Given the description of an element on the screen output the (x, y) to click on. 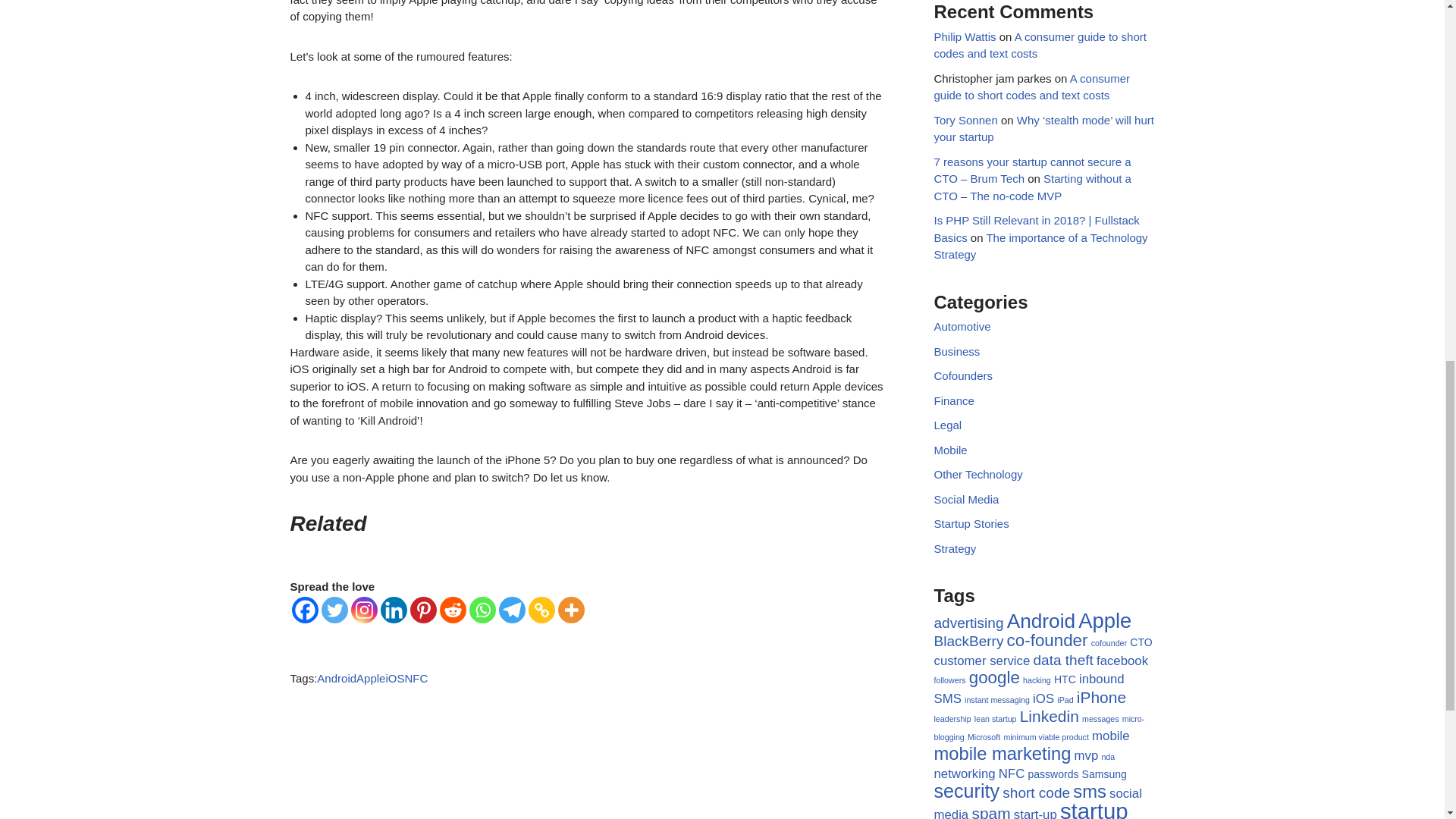
Apple (370, 677)
iOS (394, 677)
Android (336, 677)
NFC (416, 677)
